Given the description of an element on the screen output the (x, y) to click on. 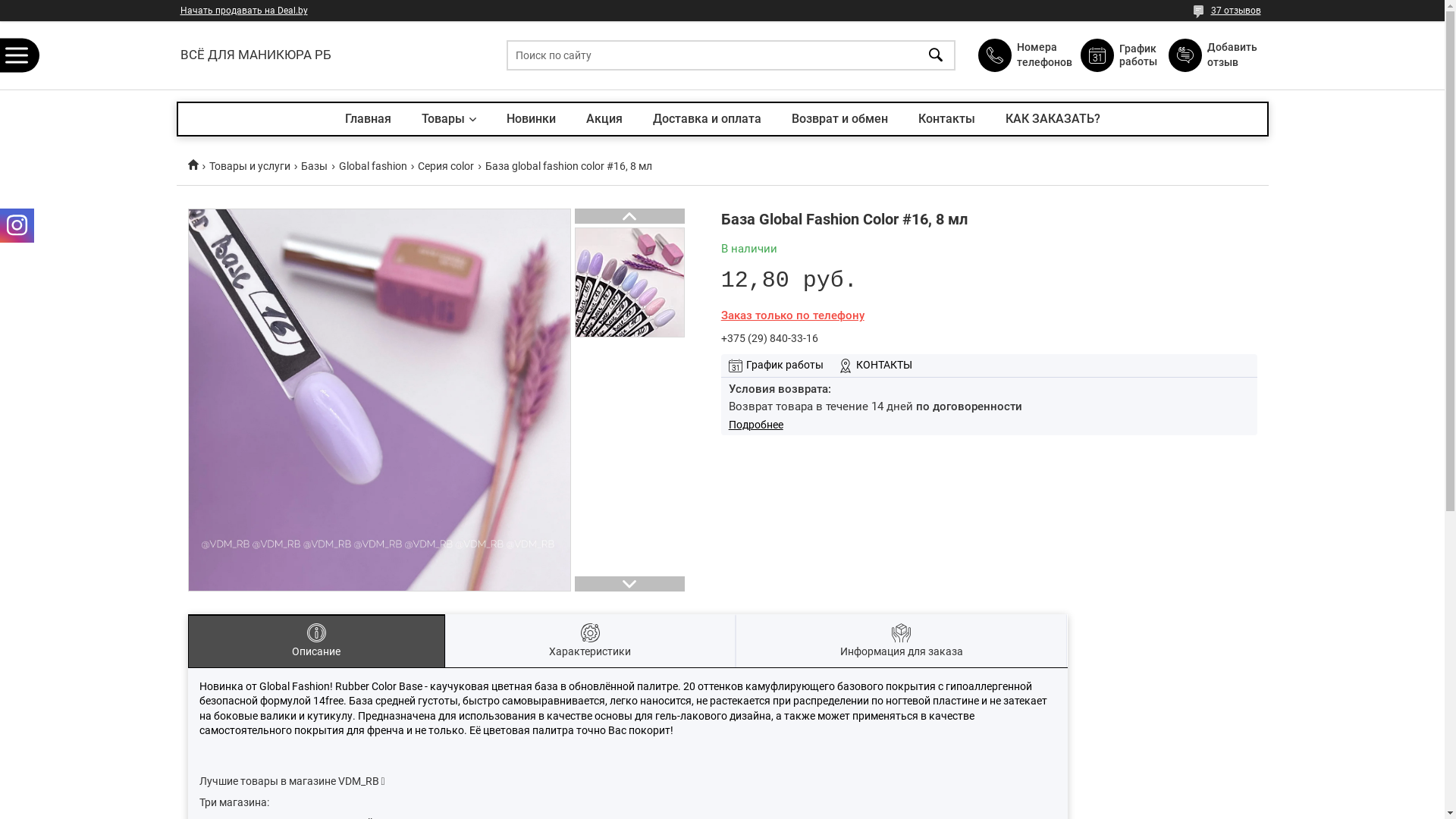
Vdm_rb Element type: hover (198, 164)
Global fashion Element type: text (372, 166)
